Given the description of an element on the screen output the (x, y) to click on. 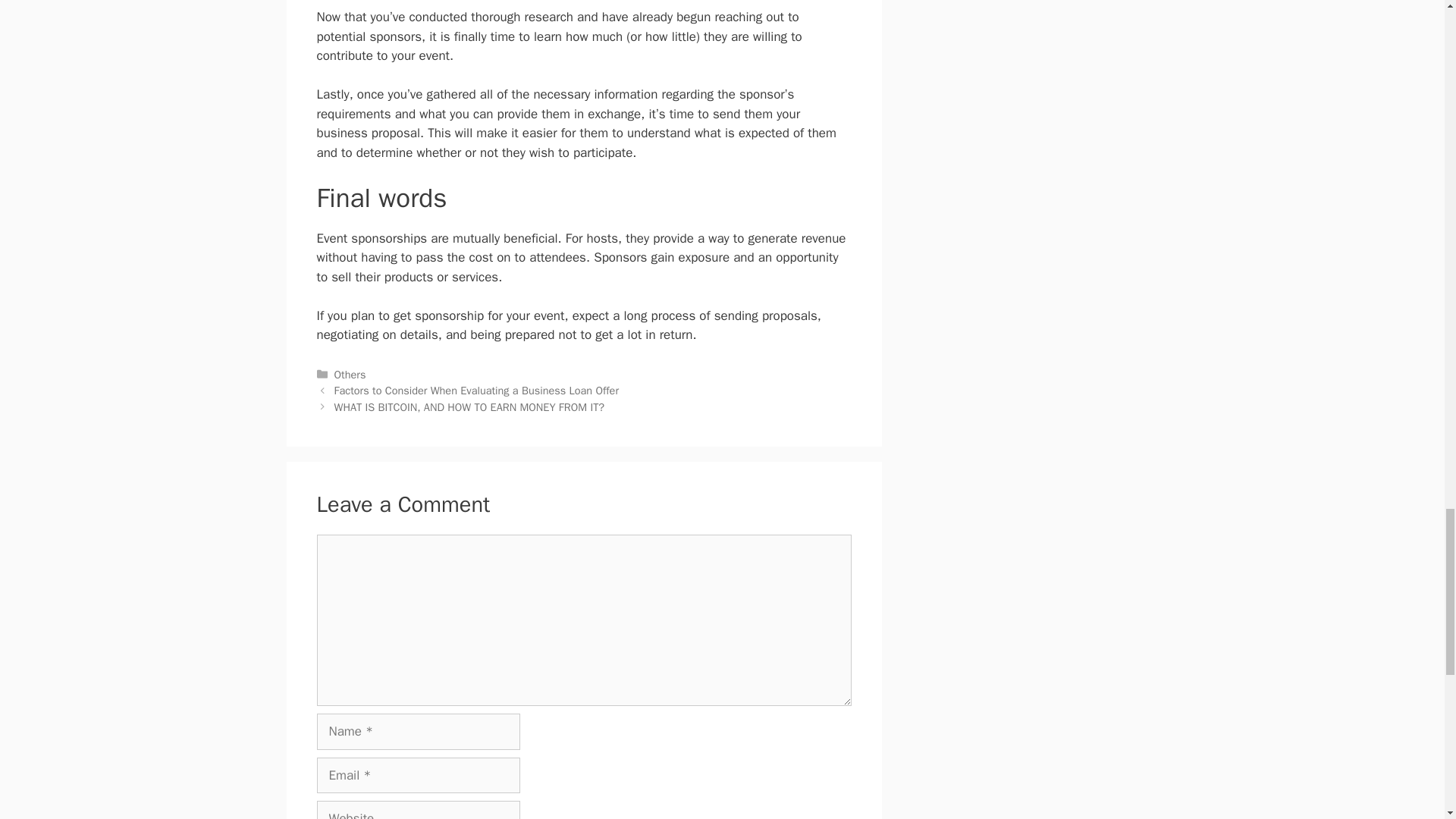
WHAT IS BITCOIN, AND HOW TO EARN MONEY FROM IT? (469, 407)
Factors to Consider When Evaluating a Business Loan Offer (476, 390)
Others (350, 374)
